Given the description of an element on the screen output the (x, y) to click on. 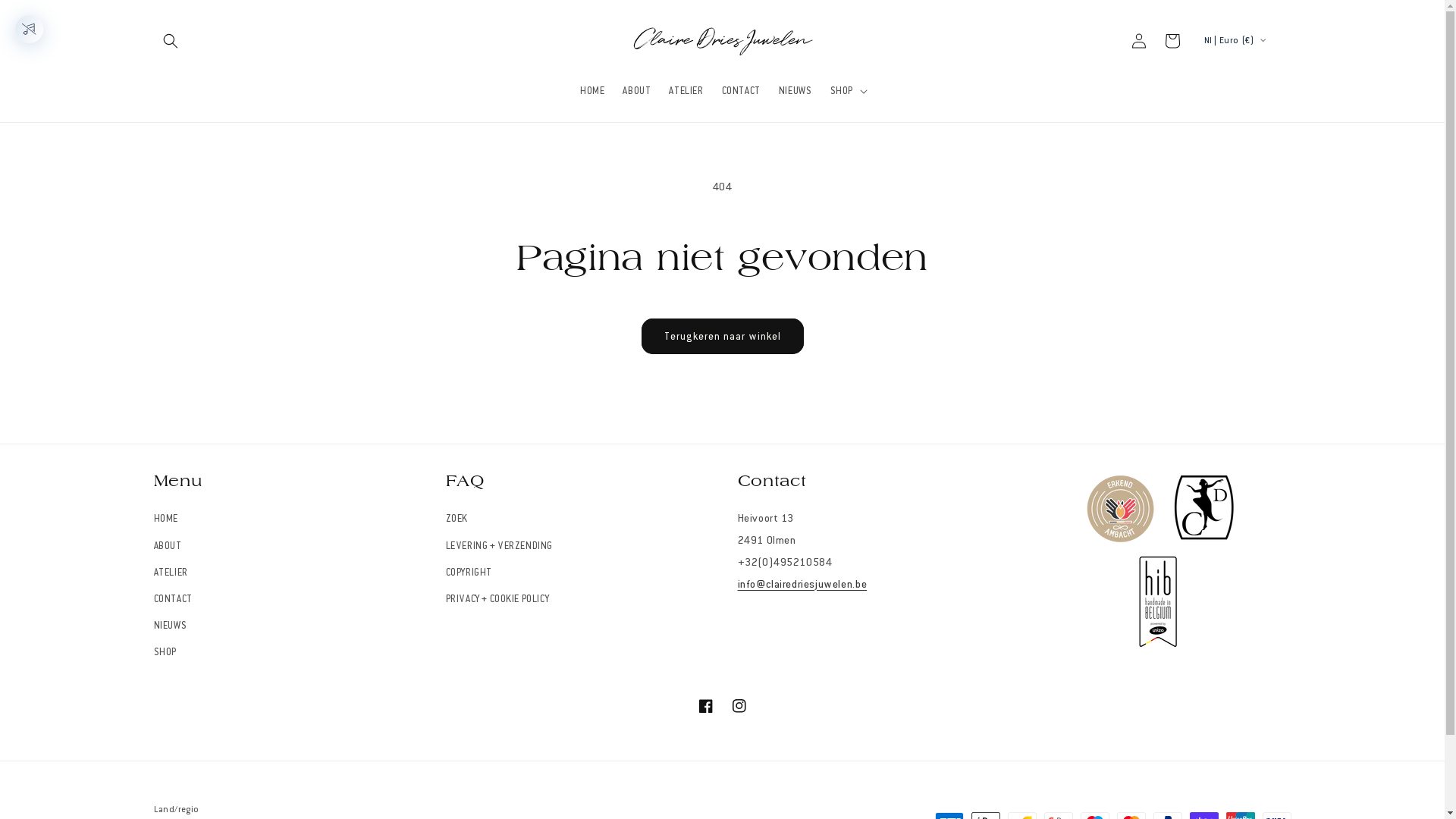
CONTACT Element type: text (740, 90)
info@clairedriesjuwelen.be Element type: text (801, 583)
NIEUWS Element type: text (169, 625)
CONTACT Element type: text (172, 599)
ABOUT Element type: text (167, 546)
ATELIER Element type: text (170, 572)
NIEUWS Element type: text (795, 90)
Facebook Element type: text (704, 705)
SHOP Element type: text (164, 652)
PRIVACY + COOKIE POLICY Element type: text (497, 599)
LEVERING + VERZENDING Element type: text (499, 546)
HOME Element type: text (592, 90)
Winkelwagen Element type: text (1172, 40)
COPYRIGHT Element type: text (468, 572)
ABOUT Element type: text (636, 90)
Terugkeren naar winkel Element type: text (722, 336)
Instagram Element type: text (738, 705)
Inloggen Element type: text (1138, 40)
HOME Element type: text (165, 520)
ZOEK Element type: text (456, 520)
ATELIER Element type: text (685, 90)
